Given the description of an element on the screen output the (x, y) to click on. 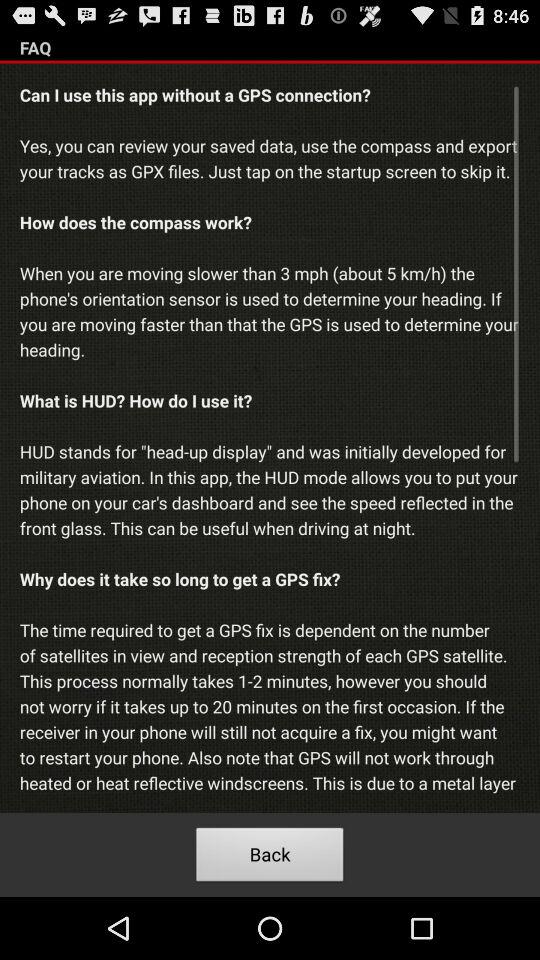
scroll until the back (269, 857)
